Given the description of an element on the screen output the (x, y) to click on. 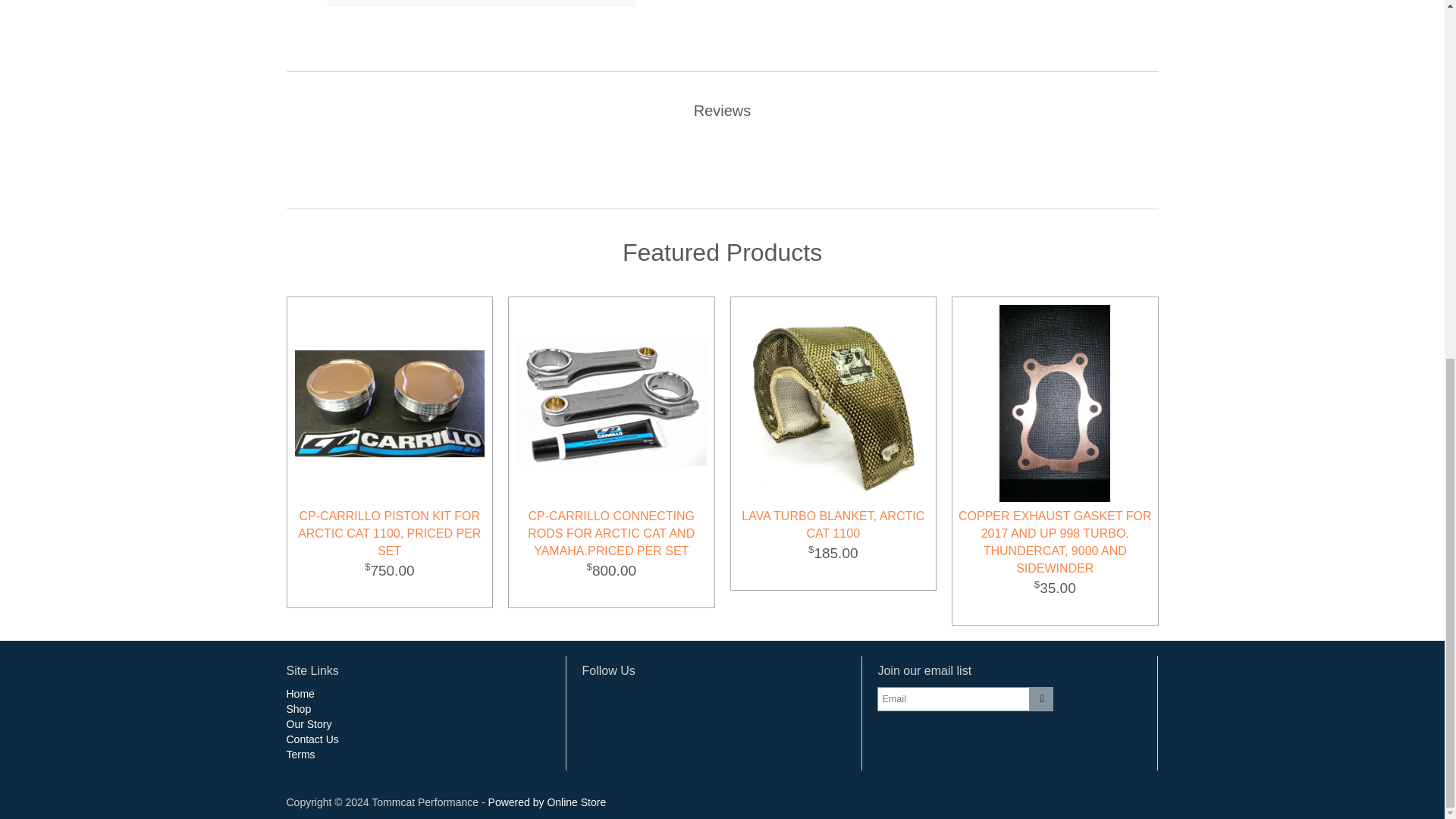
Terms (300, 754)
Home (300, 693)
Contact Us (312, 739)
Our Story (308, 724)
Shop (298, 708)
